Given the description of an element on the screen output the (x, y) to click on. 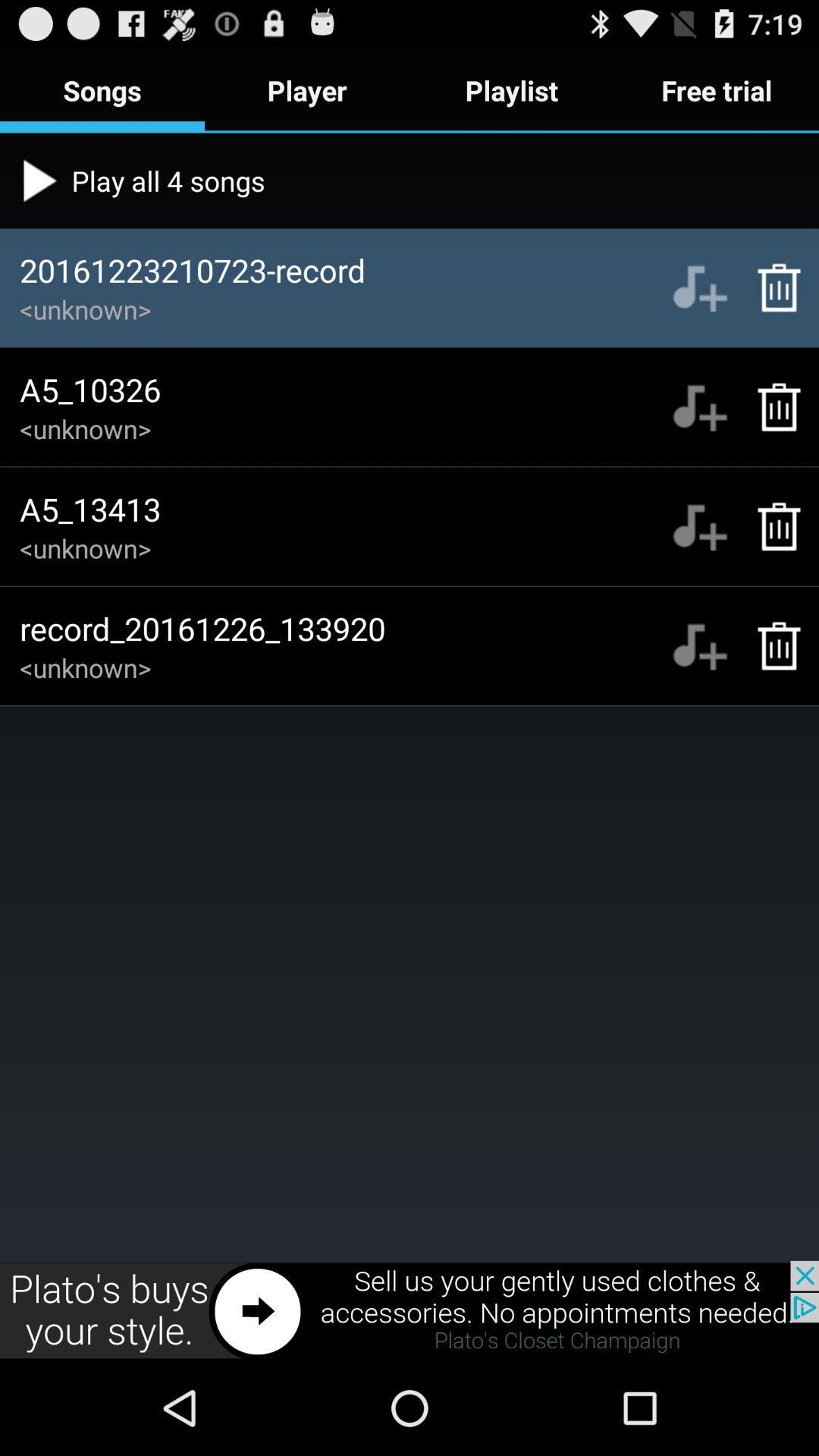
add song (699, 287)
